Given the description of an element on the screen output the (x, y) to click on. 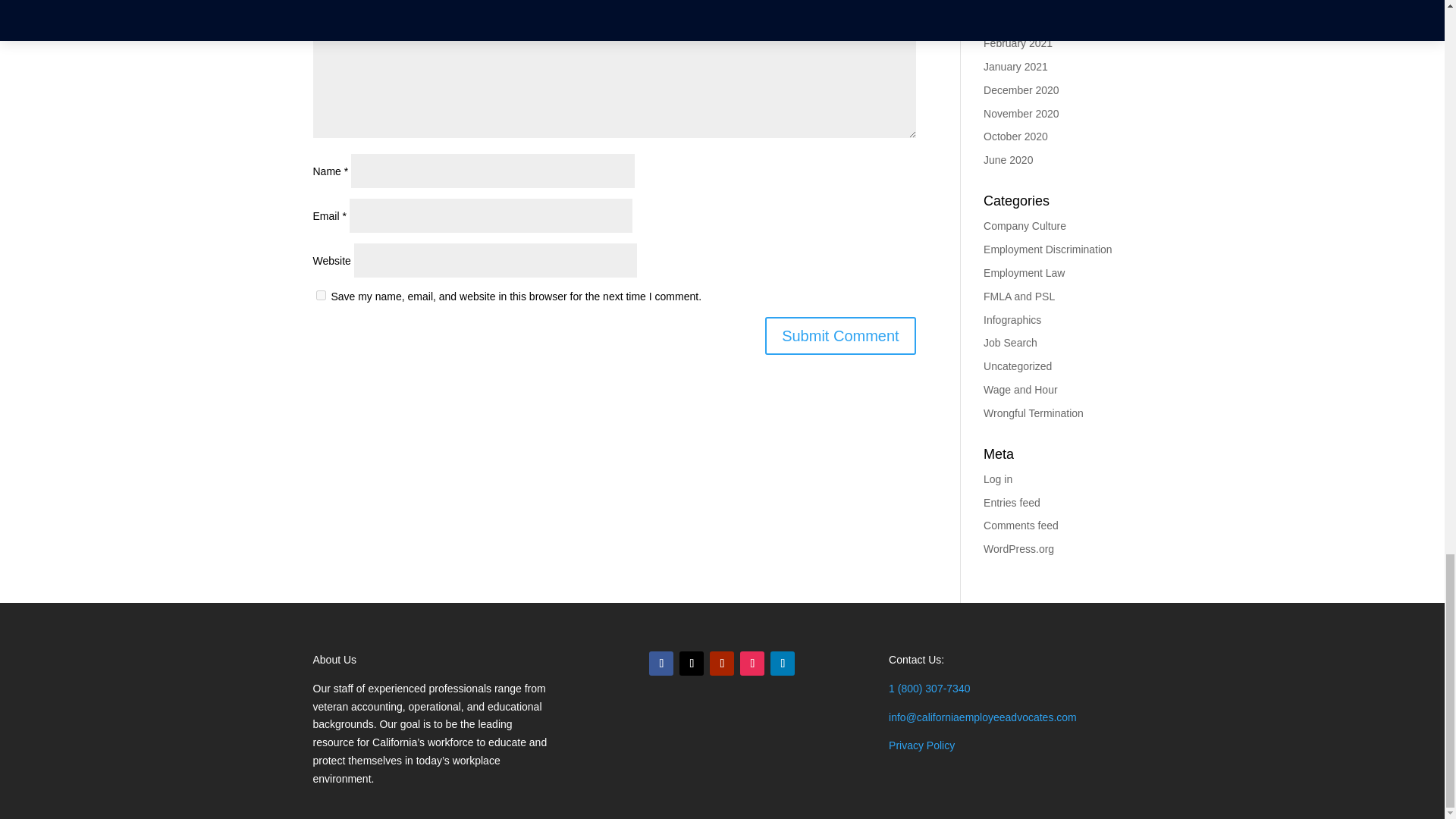
Follow on Instagram (751, 663)
Follow on X (691, 663)
Submit Comment (840, 335)
Submit Comment (840, 335)
Follow on LinkedIn (782, 663)
yes (319, 295)
Follow on Facebook (660, 663)
Follow on Youtube (721, 663)
